Given the description of an element on the screen output the (x, y) to click on. 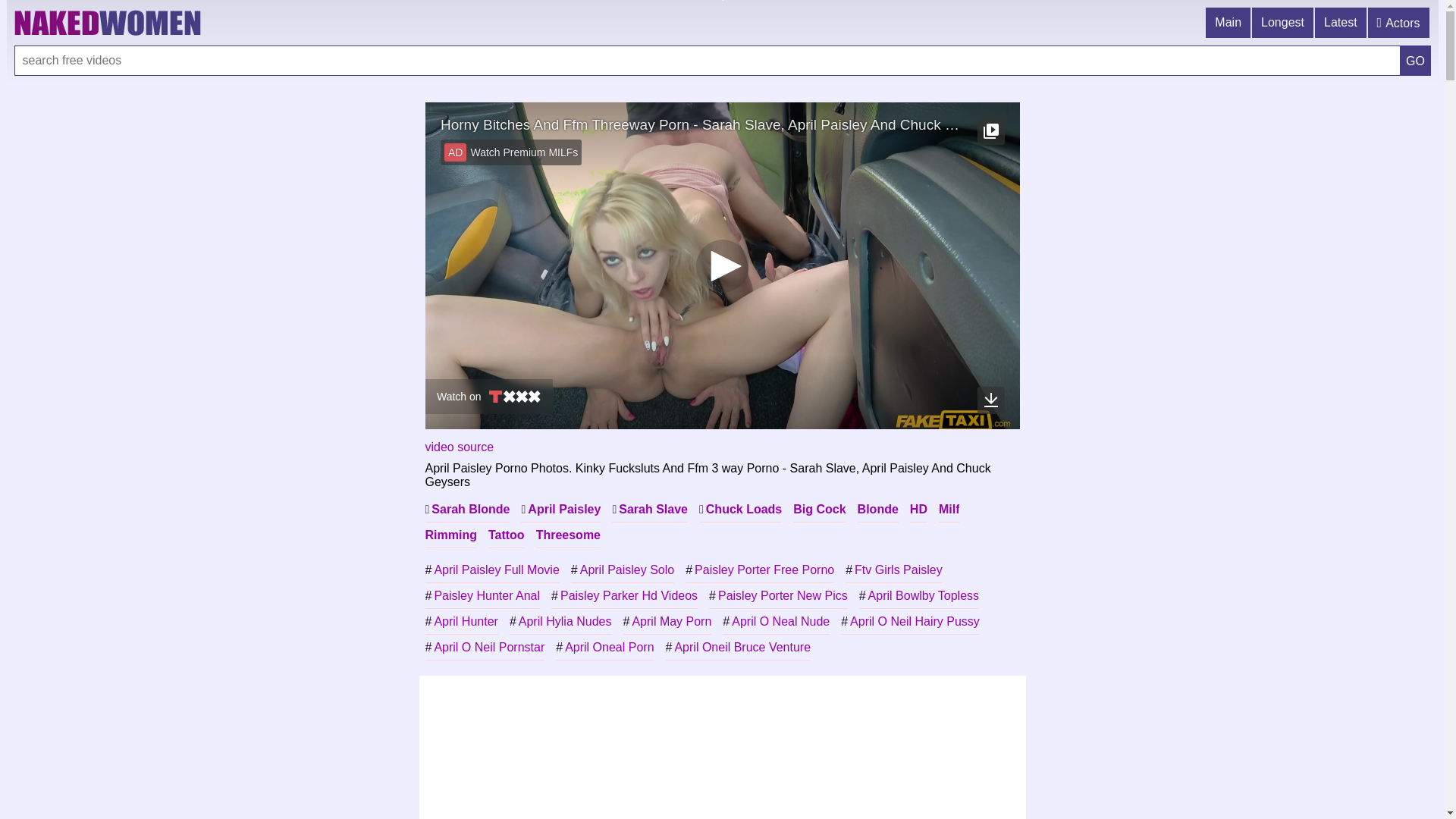
April Oneil Bruce Venture Element type: text (738, 647)
HD Element type: text (918, 509)
Milf Element type: text (949, 509)
April O Neil Pornstar Element type: text (484, 647)
Longest Element type: text (1283, 22)
April Paisley Element type: text (560, 509)
Naked women Element type: hover (106, 22)
Sarah Blonde Element type: text (466, 509)
April O Neal Nude Element type: text (775, 621)
Paisley Porter Free Porno Element type: text (759, 570)
video source Element type: text (458, 446)
April Bowlby Topless Element type: text (919, 595)
Paisley Hunter Anal Element type: text (481, 595)
Paisley Parker Hd Videos Element type: text (624, 595)
April Paisley Full Movie Element type: text (491, 570)
Tattoo Element type: text (506, 535)
Main Element type: text (1228, 22)
April Hylia Nudes Element type: text (560, 621)
April May Porn Element type: text (667, 621)
Paisley Porter New Pics Element type: text (778, 595)
Sarah Slave Element type: text (649, 509)
Big Cock Element type: text (819, 509)
Blonde Element type: text (877, 509)
GO Element type: text (1414, 60)
April Hunter Element type: text (460, 621)
Rimming Element type: text (450, 535)
April Paisley Solo Element type: text (622, 570)
Threesome Element type: text (568, 535)
Actors Element type: text (1399, 22)
April O Neil Hairy Pussy Element type: text (909, 621)
Ftv Girls Paisley Element type: text (893, 570)
April Oneal Porn Element type: text (604, 647)
Chuck Loads Element type: text (740, 509)
Latest Element type: text (1341, 22)
